Given the description of an element on the screen output the (x, y) to click on. 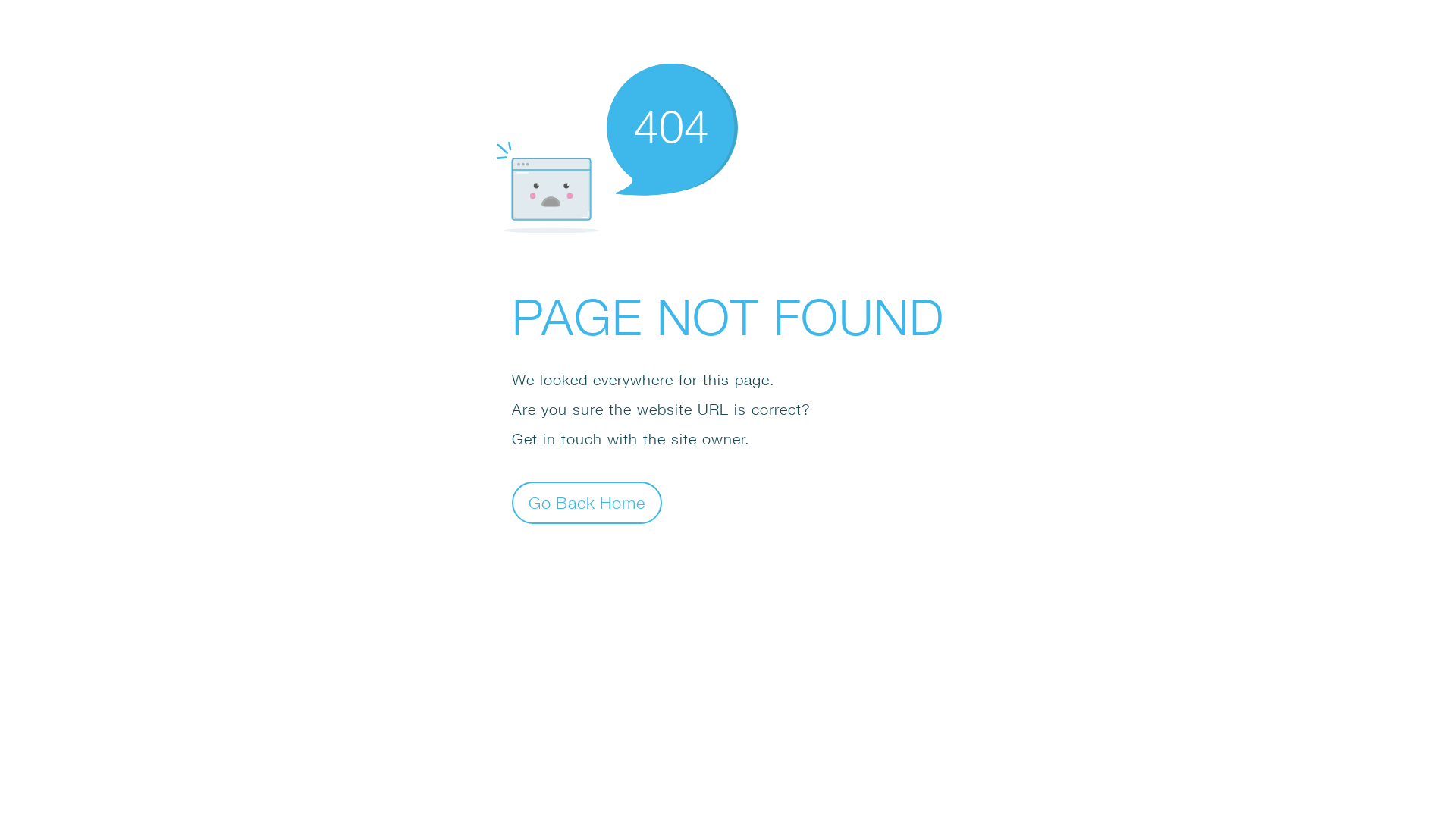
Go Back Home Element type: text (586, 502)
